Given the description of an element on the screen output the (x, y) to click on. 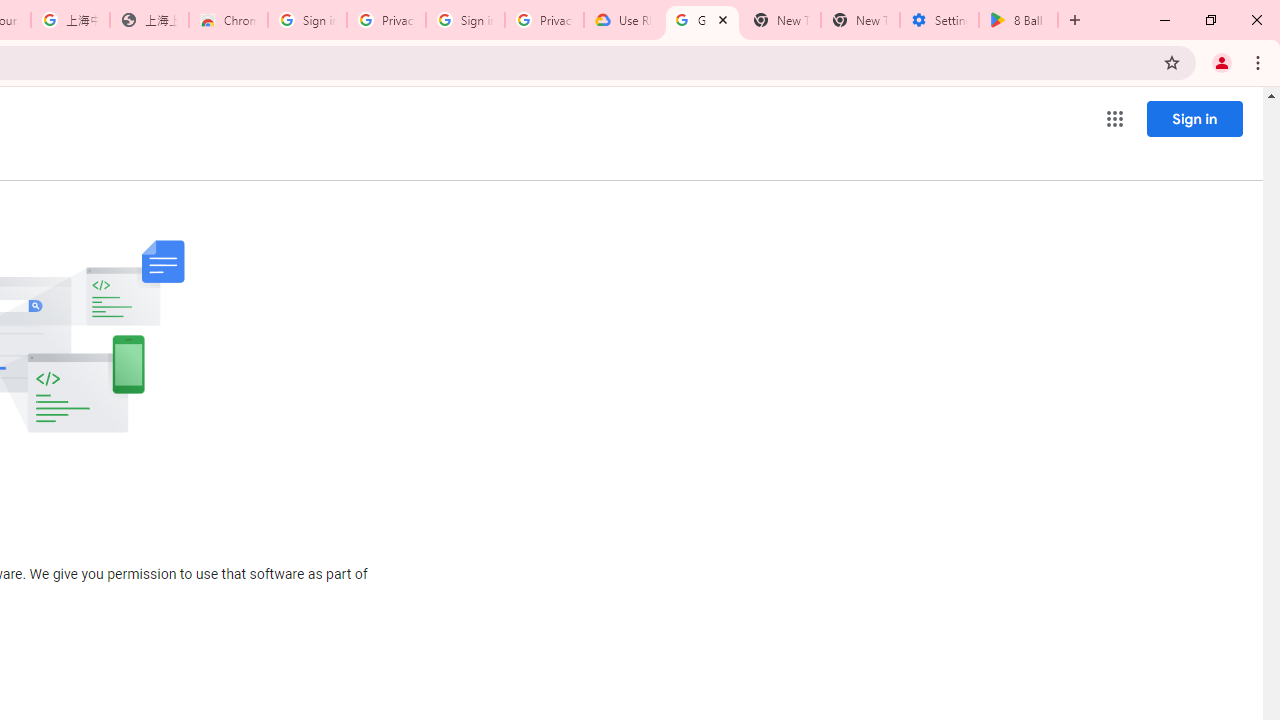
Chrome Web Store - Color themes by Chrome (228, 20)
Sign in - Google Accounts (465, 20)
New Tab (859, 20)
Sign in - Google Accounts (306, 20)
